Given the description of an element on the screen output the (x, y) to click on. 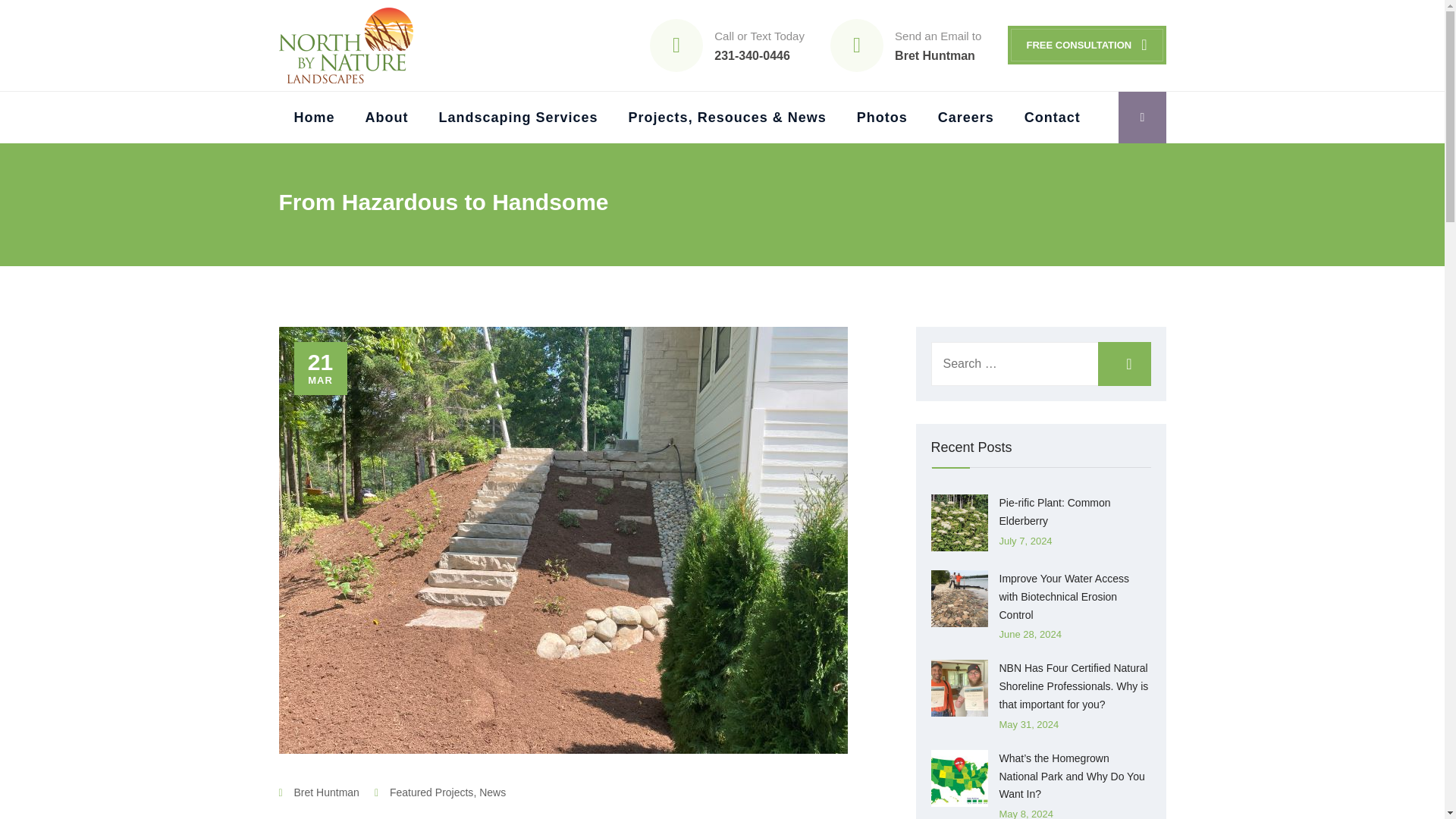
North By Nature Landscapes (351, 45)
Photos (882, 117)
Pie-rific Plant: Common Elderberry (1054, 511)
Landscaping Services (517, 117)
May 31, 2024 (1028, 724)
Improve Your Water Access with Biotechnical Erosion Control (1063, 596)
News (492, 792)
FREE CONSULTATION (1086, 44)
June 28, 2024 (1029, 633)
Featured Projects (938, 44)
Contact (432, 792)
Careers (1052, 117)
Bret Huntman (965, 117)
